Given the description of an element on the screen output the (x, y) to click on. 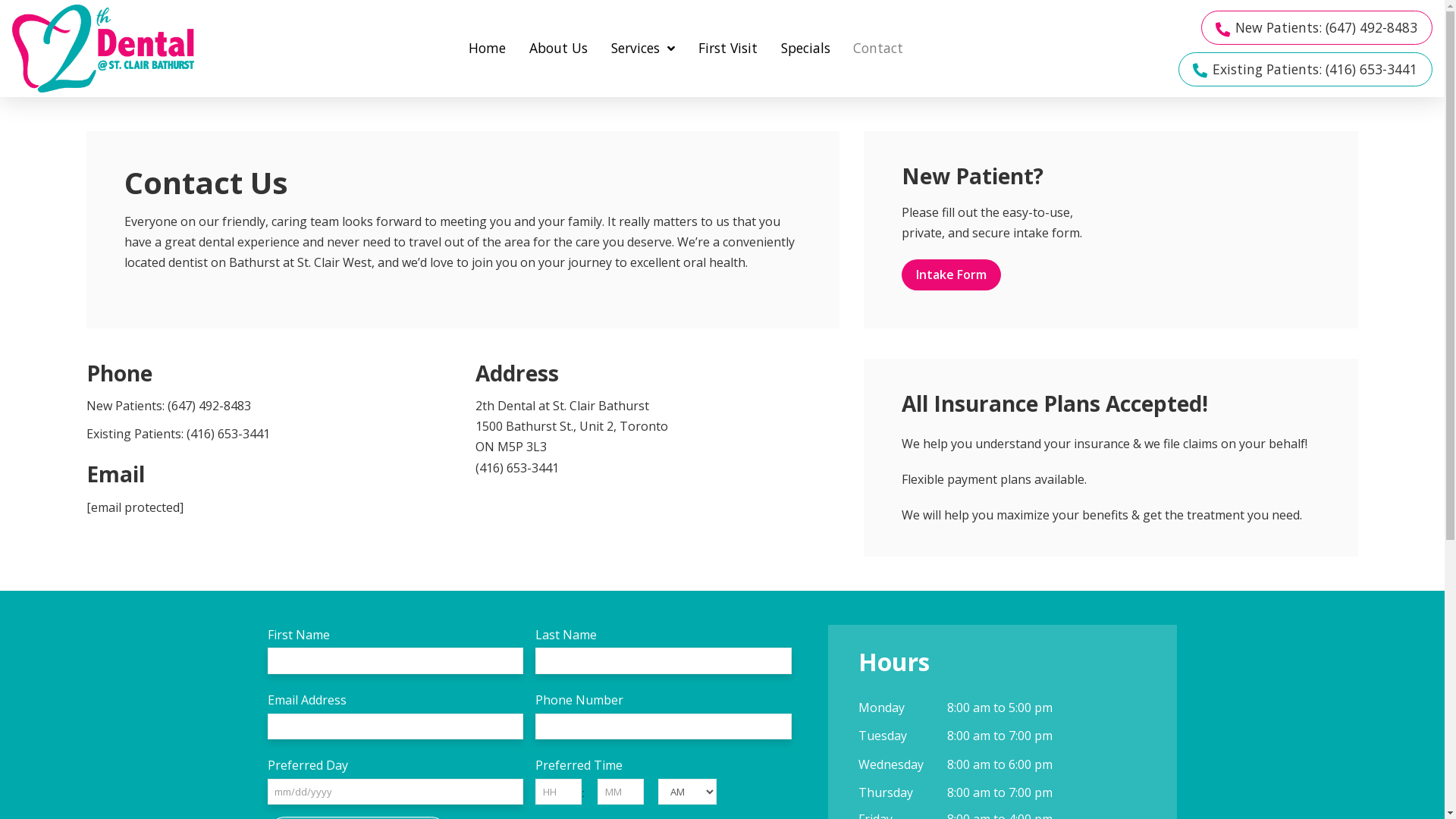
New Patients: (647) 492-8483 Element type: text (1316, 27)
[email protected] Element type: text (134, 506)
Home Element type: text (487, 48)
First Visit Element type: text (727, 48)
New Patients: (647) 492-8483 Element type: text (168, 405)
About Us Element type: text (558, 48)
Specials Element type: text (804, 48)
Intake Form Element type: text (950, 274)
Contact Element type: text (878, 48)
Existing Patients: (416) 653-3441 Element type: text (177, 433)
Services Element type: text (643, 48)
Existing Patients: (416) 653-3441 Element type: text (1305, 69)
